Given the description of an element on the screen output the (x, y) to click on. 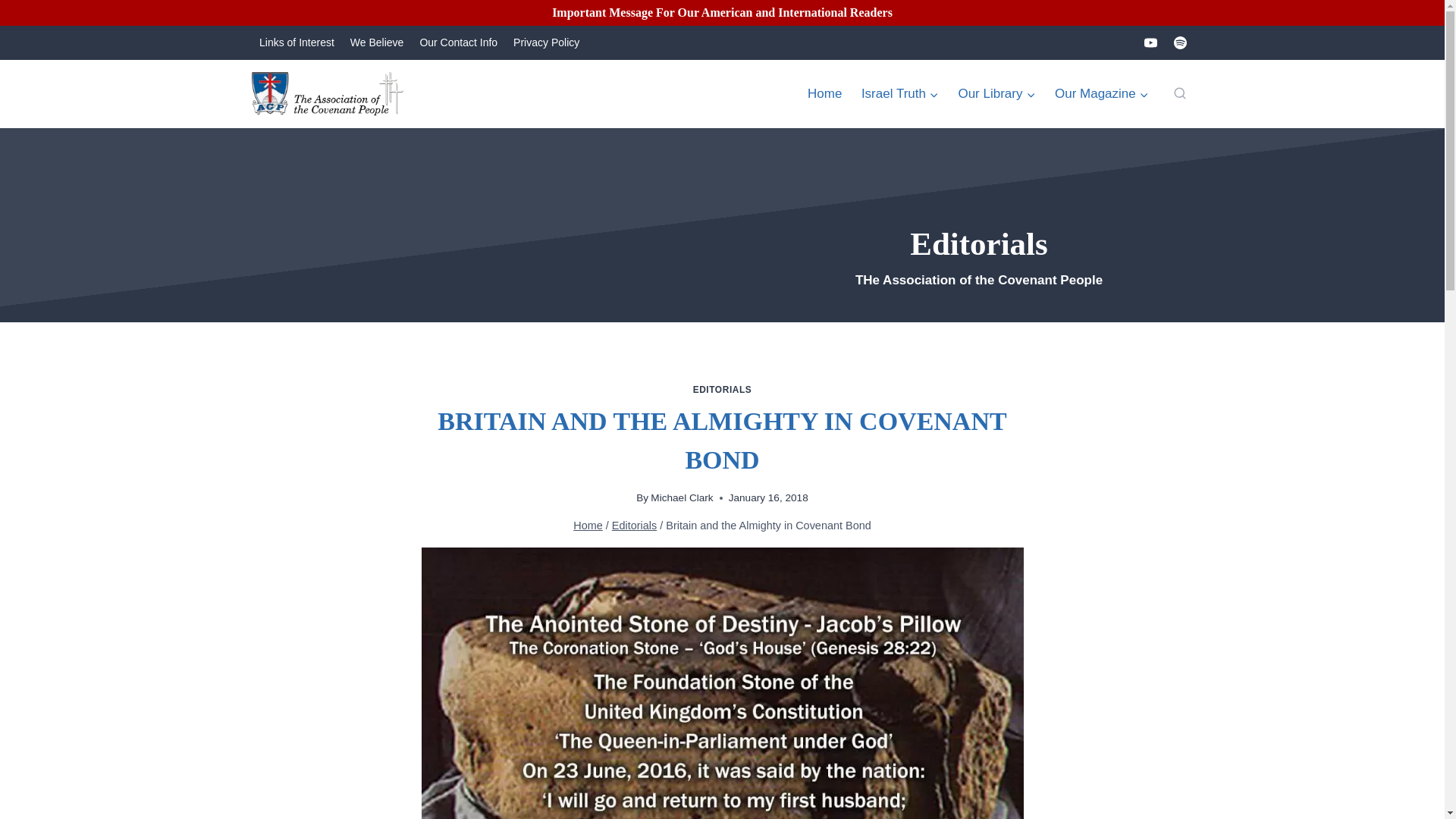
We Believe (377, 42)
Israel Truth (900, 93)
Our Library (997, 93)
Links of Interest (296, 42)
Our Contact Info (458, 42)
Privacy Policy (546, 42)
Important Message For Our American and International Readers (722, 13)
